Given the description of an element on the screen output the (x, y) to click on. 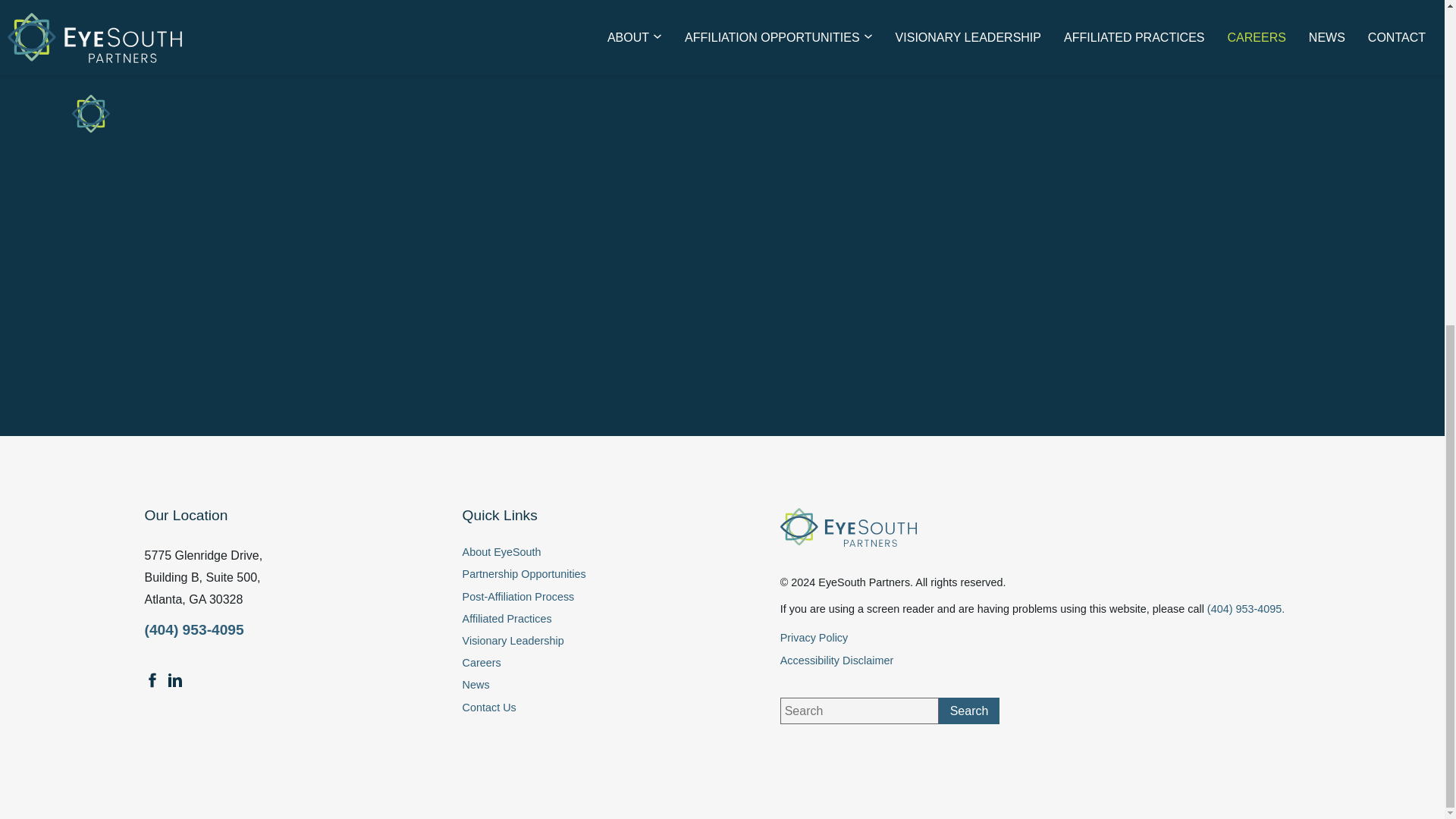
Post-Affiliation Process (578, 596)
Affiliated Practices (578, 618)
Search (969, 710)
Partnership Opportunities (578, 574)
Visionary Leadership (578, 640)
About EyeSouth (578, 552)
Search (969, 710)
Careers (578, 663)
